Given the description of an element on the screen output the (x, y) to click on. 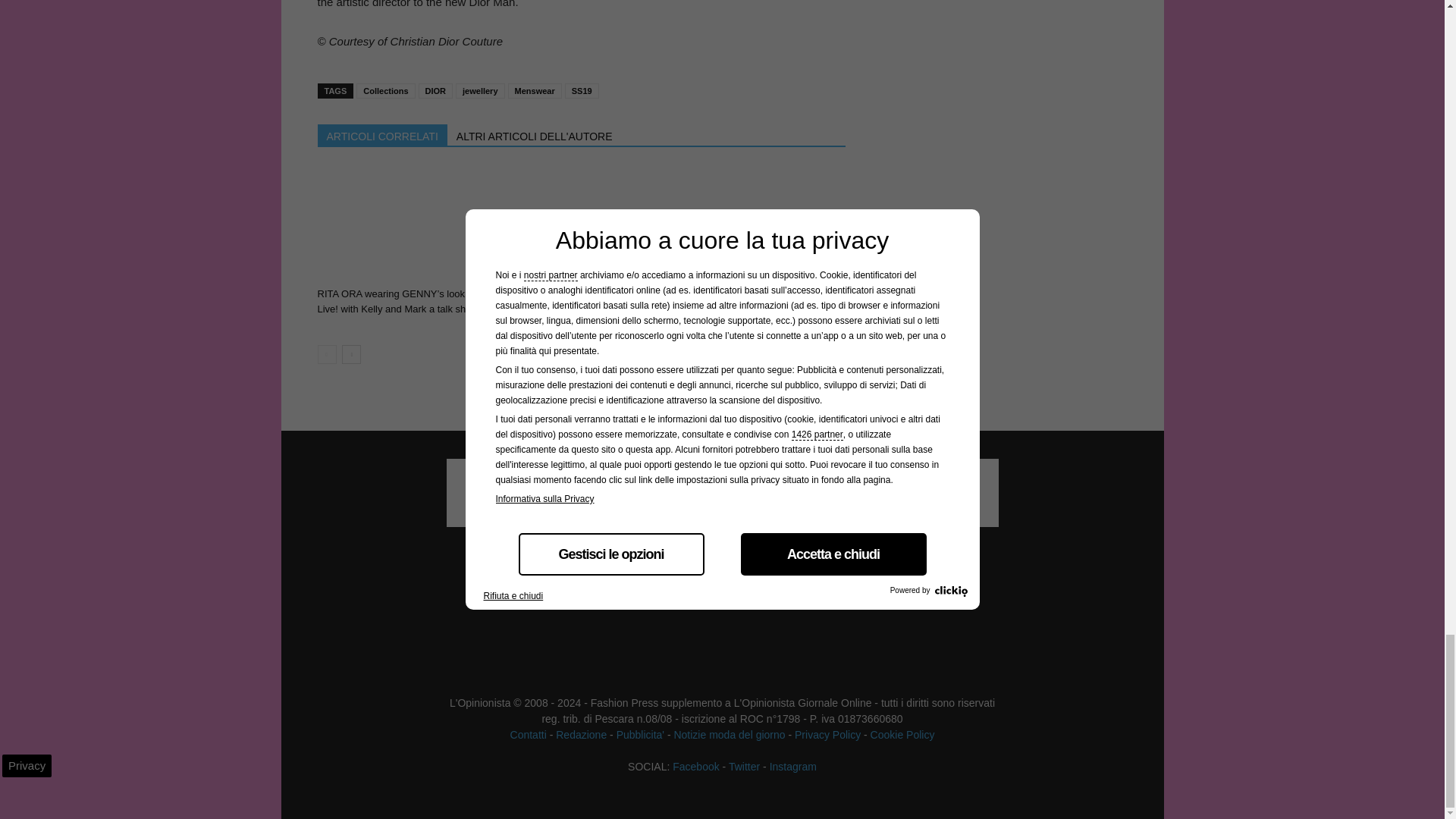
Collections (385, 90)
DIOR (435, 90)
jewellery (479, 90)
Menswear (535, 90)
SS19 (581, 90)
